Given the description of an element on the screen output the (x, y) to click on. 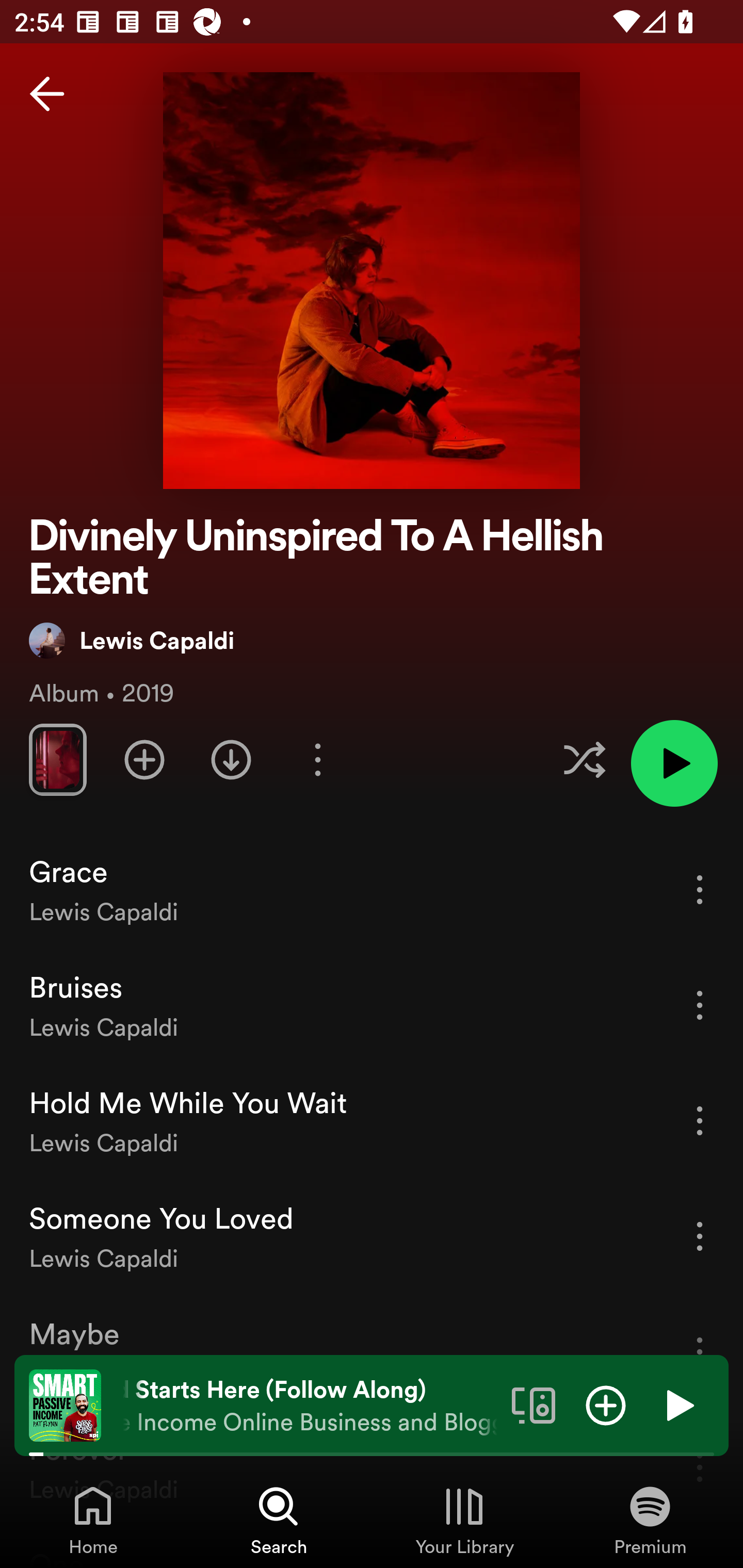
Back (46, 93)
Lewis Capaldi (131, 640)
Swipe through previews of tracks from this album. (57, 759)
Add playlist to Your Library (144, 759)
Download (230, 759)
Enable shuffle for this playlist (583, 759)
Play playlist (674, 763)
Grace Lewis Capaldi More options for song Grace (371, 889)
More options for song Grace (699, 889)
More options for song Bruises (699, 1004)
More options for song Hold Me While You Wait (699, 1120)
More options for song Someone You Loved (699, 1236)
The cover art of the currently playing track (64, 1404)
Connect to a device. Opens the devices menu (533, 1404)
Add item (605, 1404)
Play (677, 1404)
Home, Tab 1 of 4 Home Home (92, 1519)
Search, Tab 2 of 4 Search Search (278, 1519)
Your Library, Tab 3 of 4 Your Library Your Library (464, 1519)
Premium, Tab 4 of 4 Premium Premium (650, 1519)
